Given the description of an element on the screen output the (x, y) to click on. 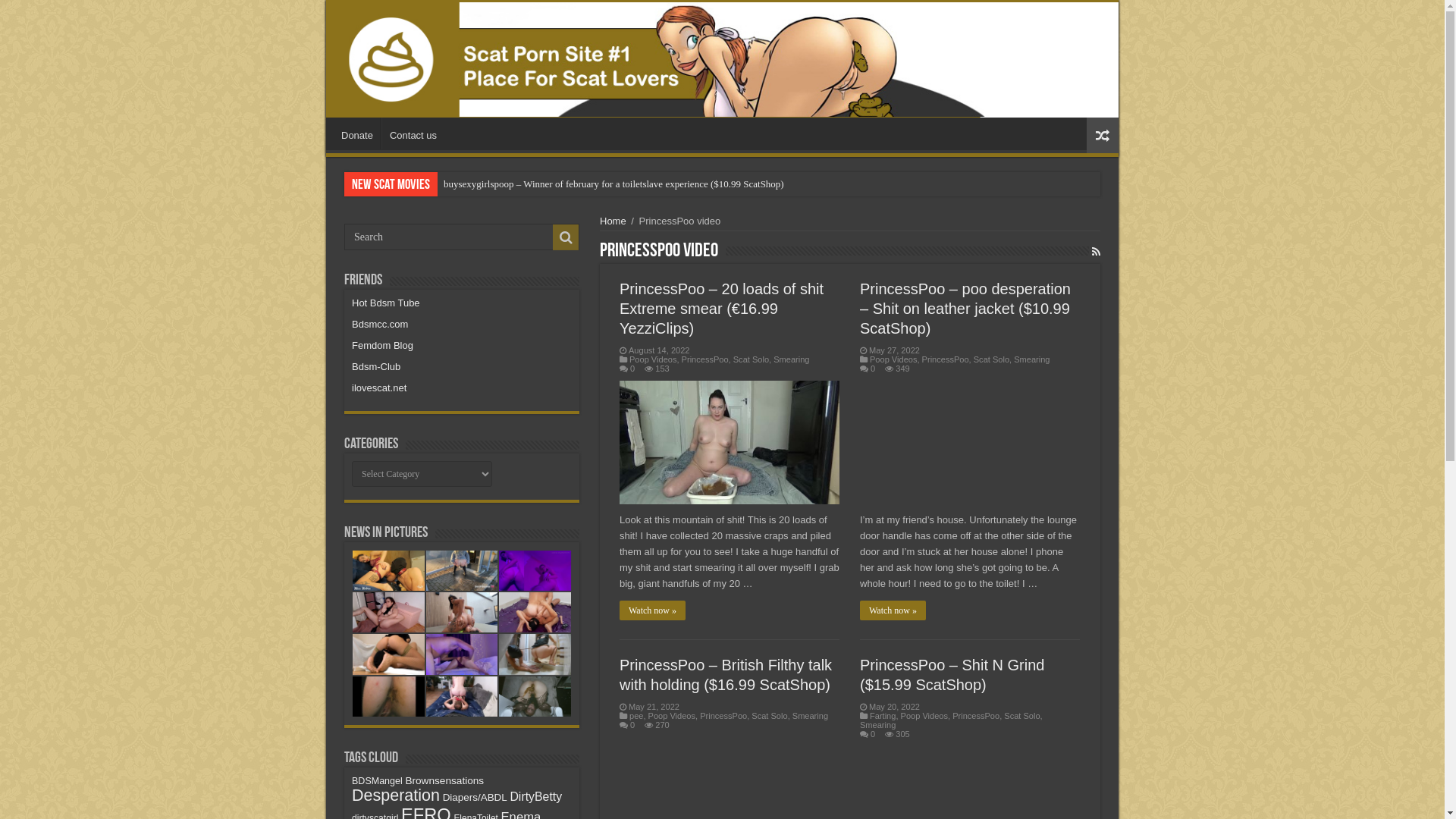
Bdsmcc.com Element type: text (379, 323)
0 Element type: text (632, 724)
Scat Solo Element type: text (1021, 715)
Feed Subscription Element type: hover (1096, 251)
PrincessPoo Element type: text (722, 715)
PrincessPoo Element type: text (945, 359)
Smearing Element type: text (877, 724)
Poop Videos Element type: text (923, 715)
0 Element type: text (632, 368)
Diapers/ABDL Element type: text (474, 797)
Donate Element type: text (356, 133)
Desperation Element type: text (395, 795)
Smearing Element type: text (791, 359)
PrincessPoo Element type: text (975, 715)
Bdsm-Club Element type: text (375, 366)
DirtyBetty Element type: text (535, 796)
Scat Fetish Tube Element type: hover (722, 59)
ilovescat.net Element type: text (378, 387)
Search Element type: text (565, 237)
PrincessPoo Element type: text (704, 359)
Scat Solo Element type: text (769, 715)
Scat Solo Element type: text (991, 359)
Poop Videos Element type: text (671, 715)
Farting Element type: text (882, 715)
Smearing Element type: text (810, 715)
Poop Videos Element type: text (652, 359)
Scat Solo Element type: text (750, 359)
Contact us Element type: text (412, 133)
Home Element type: text (612, 220)
Femdom Blog Element type: text (382, 345)
0 Element type: text (872, 733)
Smearing Element type: text (1031, 359)
pee Element type: text (636, 715)
Hot Bdsm Tube Element type: text (385, 302)
0 Element type: text (872, 368)
Poop Videos Element type: text (892, 359)
Brownsensations Element type: text (443, 780)
BDSMangel Element type: text (376, 780)
